Given the description of an element on the screen output the (x, y) to click on. 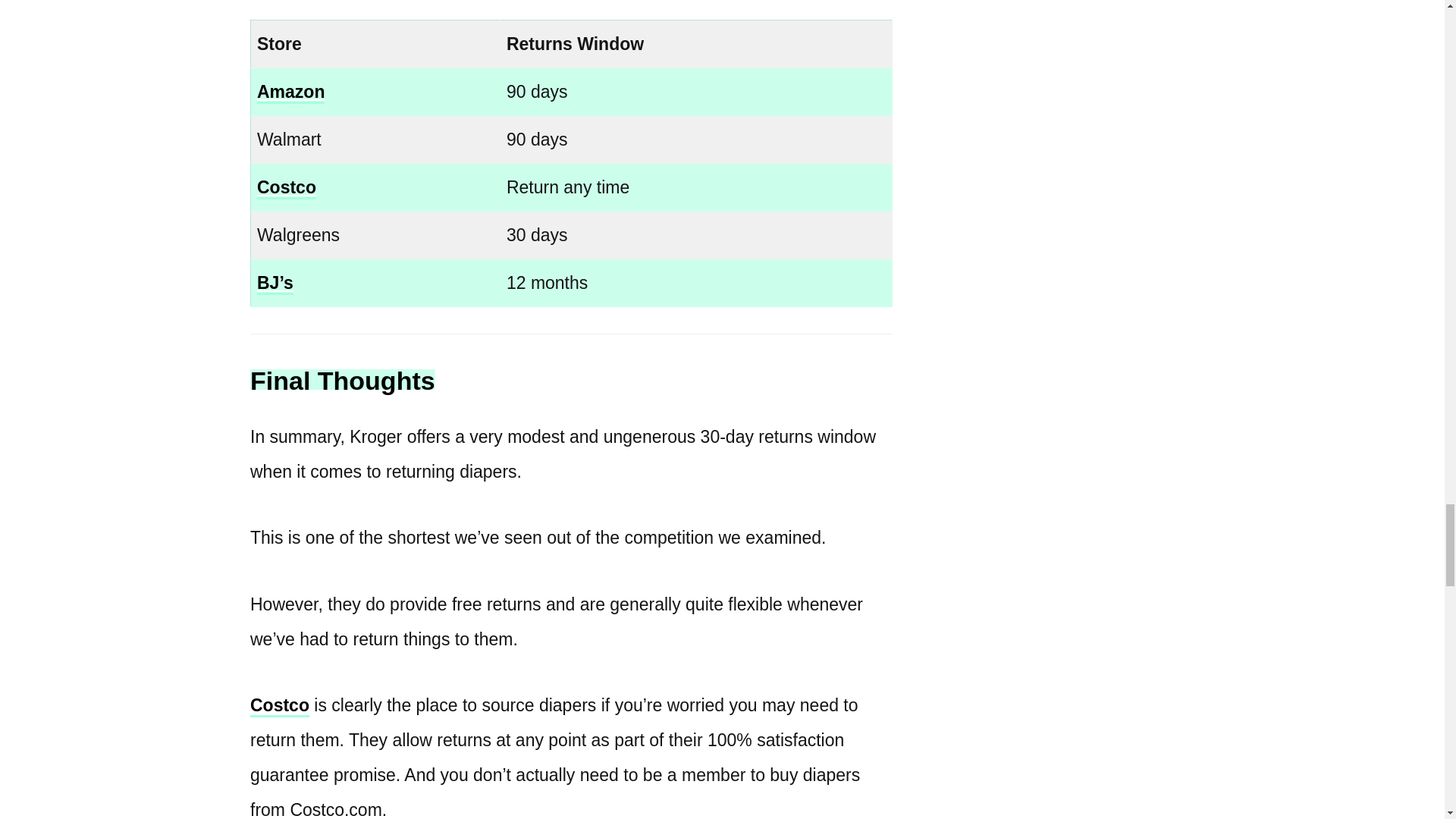
Costco (286, 188)
Amazon (290, 92)
Costco (279, 706)
